Given the description of an element on the screen output the (x, y) to click on. 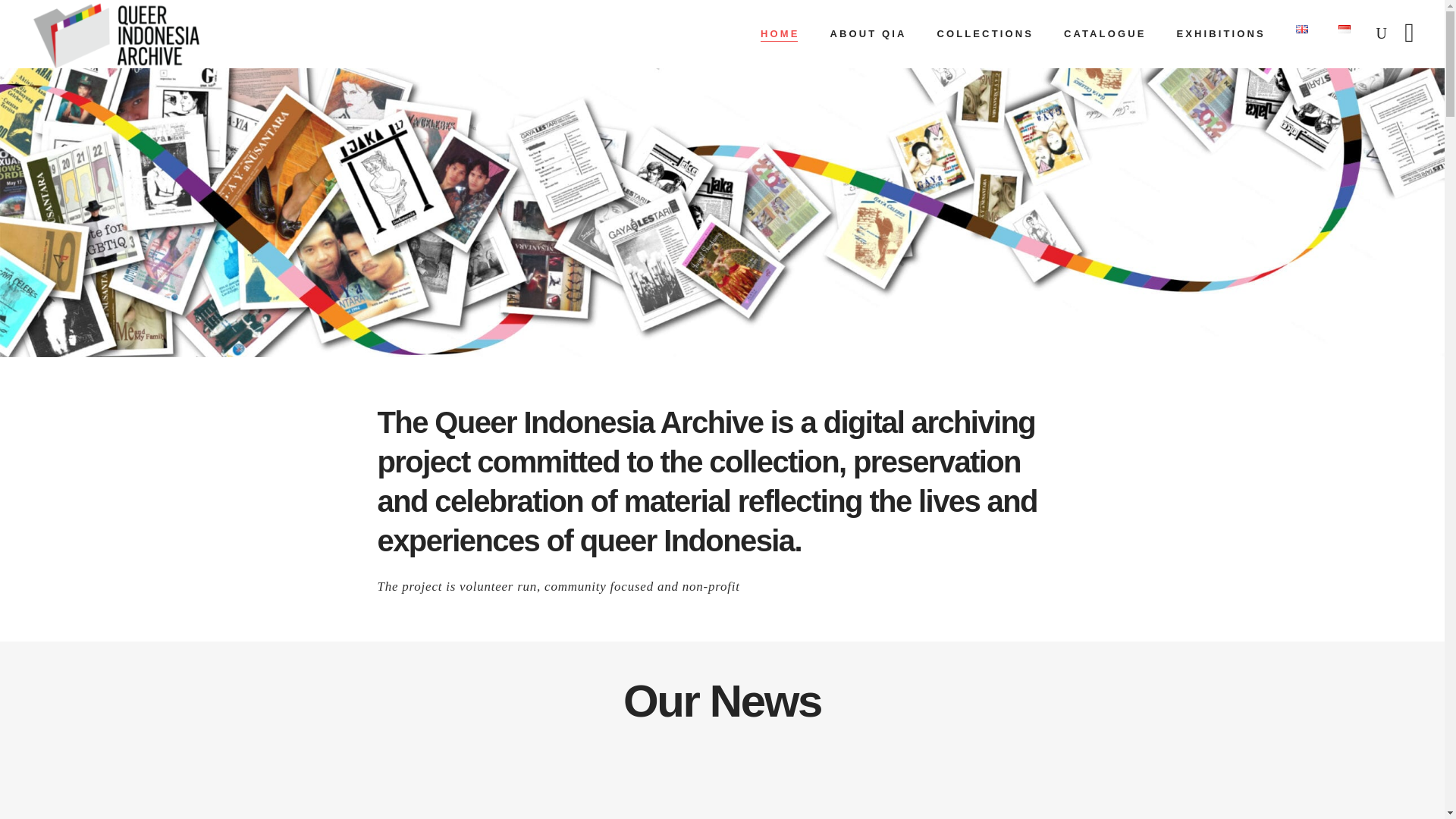
COLLECTIONS (984, 33)
EXHIBITIONS (1219, 33)
ABOUT QIA (867, 33)
HOME (779, 33)
CATALOGUE (1104, 33)
